Given the description of an element on the screen output the (x, y) to click on. 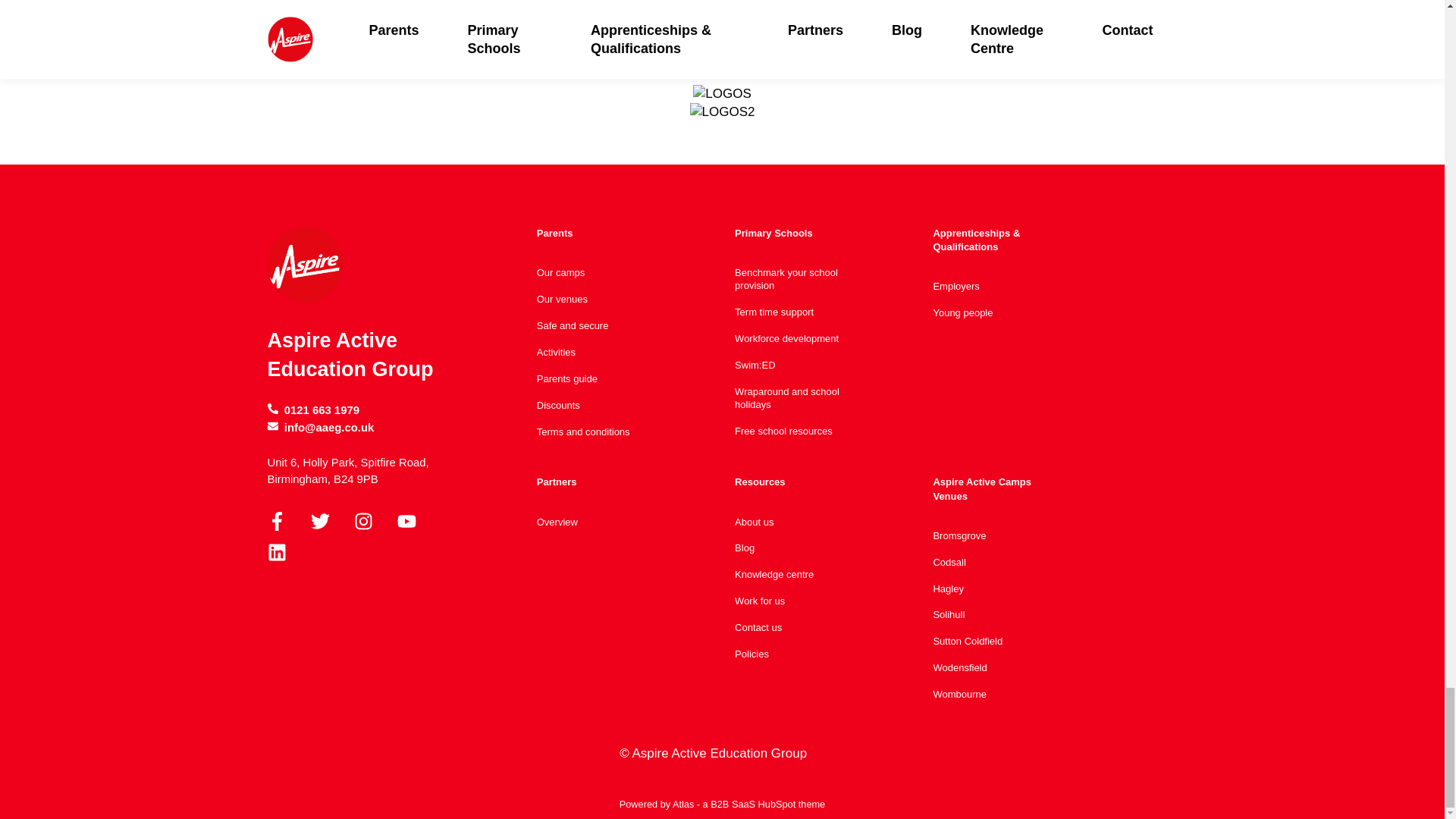
LOGOS2 (722, 112)
LOGOS (722, 94)
